Given the description of an element on the screen output the (x, y) to click on. 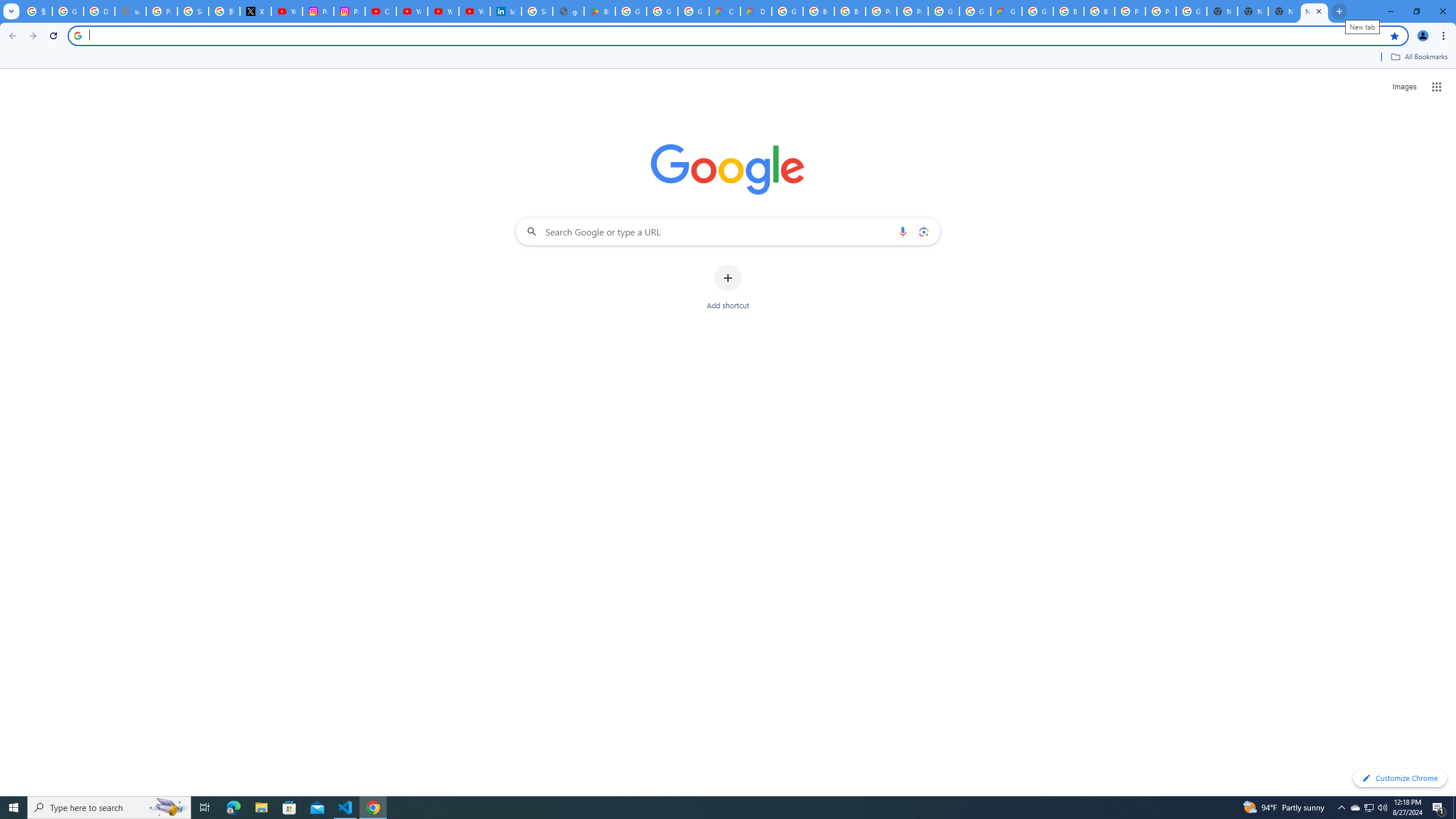
YouTube Content Monetization Policies - How YouTube Works (286, 11)
Google Cloud Platform (1037, 11)
Google Cloud Platform (787, 11)
YouTube Culture & Trends - YouTube Top 10, 2021 (443, 11)
Browse Chrome as a guest - Computer - Google Chrome Help (818, 11)
Google Cloud Estimate Summary (1005, 11)
Google Cloud Platform (974, 11)
